Given the description of an element on the screen output the (x, y) to click on. 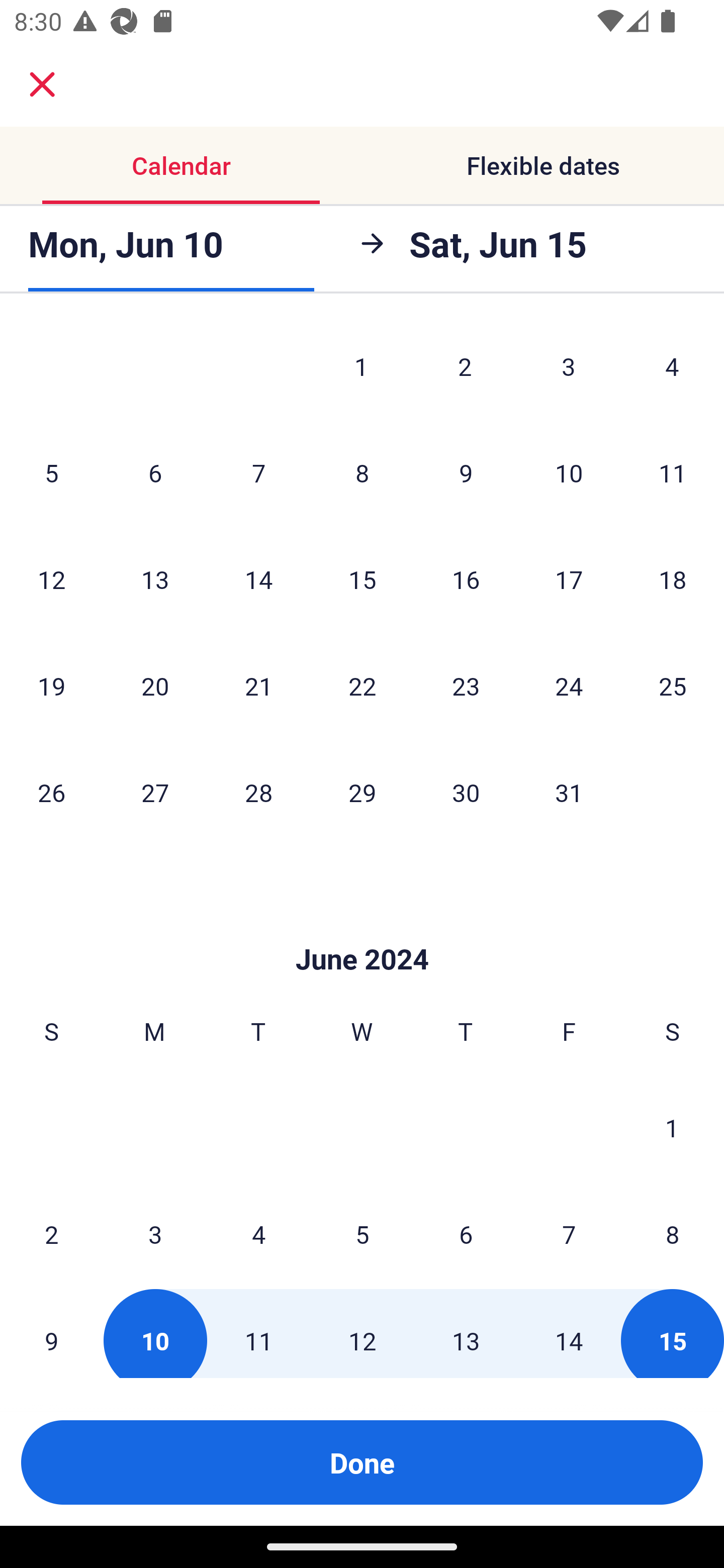
close. (42, 84)
Flexible dates (542, 164)
1 Wednesday, May 1, 2024 (361, 369)
2 Thursday, May 2, 2024 (464, 369)
3 Friday, May 3, 2024 (568, 369)
4 Saturday, May 4, 2024 (672, 369)
5 Sunday, May 5, 2024 (51, 472)
6 Monday, May 6, 2024 (155, 472)
7 Tuesday, May 7, 2024 (258, 472)
8 Wednesday, May 8, 2024 (362, 472)
9 Thursday, May 9, 2024 (465, 472)
10 Friday, May 10, 2024 (569, 472)
11 Saturday, May 11, 2024 (672, 472)
12 Sunday, May 12, 2024 (51, 579)
13 Monday, May 13, 2024 (155, 579)
14 Tuesday, May 14, 2024 (258, 579)
15 Wednesday, May 15, 2024 (362, 579)
16 Thursday, May 16, 2024 (465, 579)
17 Friday, May 17, 2024 (569, 579)
18 Saturday, May 18, 2024 (672, 579)
19 Sunday, May 19, 2024 (51, 684)
20 Monday, May 20, 2024 (155, 684)
21 Tuesday, May 21, 2024 (258, 684)
22 Wednesday, May 22, 2024 (362, 684)
23 Thursday, May 23, 2024 (465, 684)
24 Friday, May 24, 2024 (569, 684)
25 Saturday, May 25, 2024 (672, 684)
26 Sunday, May 26, 2024 (51, 791)
27 Monday, May 27, 2024 (155, 791)
28 Tuesday, May 28, 2024 (258, 791)
29 Wednesday, May 29, 2024 (362, 791)
30 Thursday, May 30, 2024 (465, 791)
31 Friday, May 31, 2024 (569, 791)
Skip to Done (362, 929)
1 Saturday, June 1, 2024 (672, 1127)
2 Sunday, June 2, 2024 (51, 1233)
3 Monday, June 3, 2024 (155, 1233)
4 Tuesday, June 4, 2024 (258, 1233)
5 Wednesday, June 5, 2024 (362, 1233)
6 Thursday, June 6, 2024 (465, 1233)
7 Friday, June 7, 2024 (569, 1233)
8 Saturday, June 8, 2024 (672, 1233)
9 Sunday, June 9, 2024 (51, 1333)
Done (361, 1462)
